Given the description of an element on the screen output the (x, y) to click on. 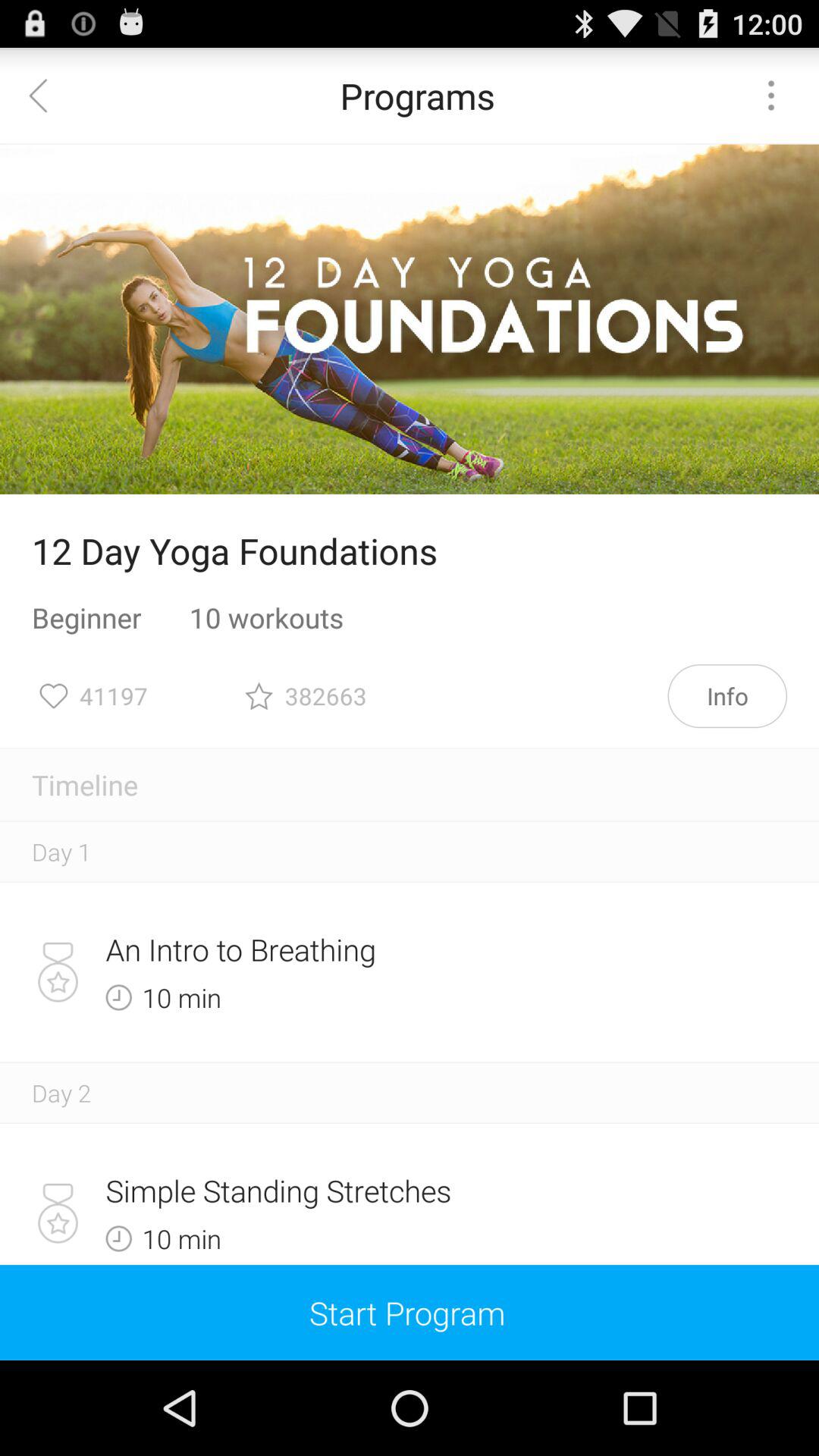
click the info item (727, 696)
